Given the description of an element on the screen output the (x, y) to click on. 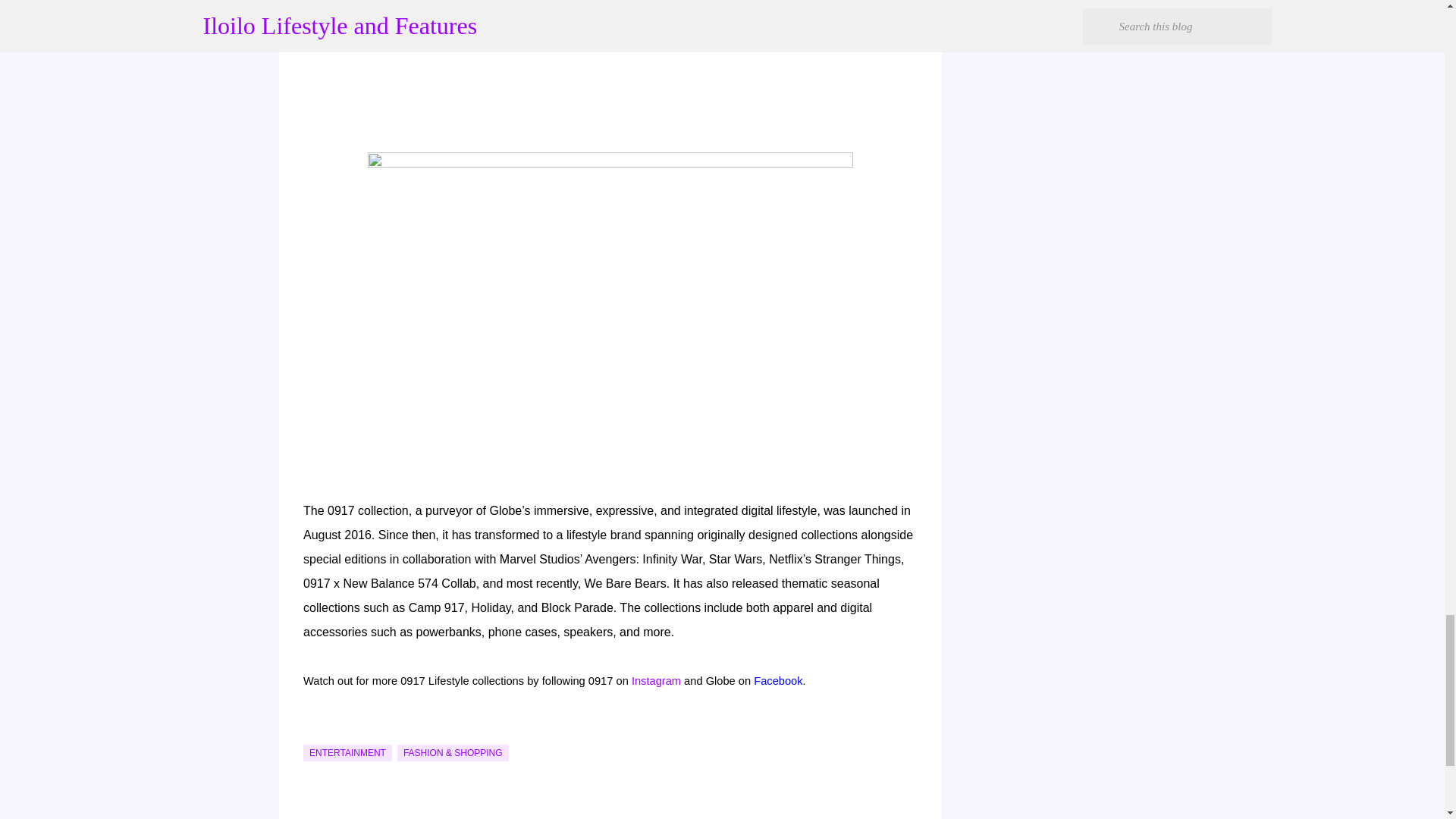
Instagram (656, 680)
Facebook (778, 680)
ENTERTAINMENT (346, 752)
